Given the description of an element on the screen output the (x, y) to click on. 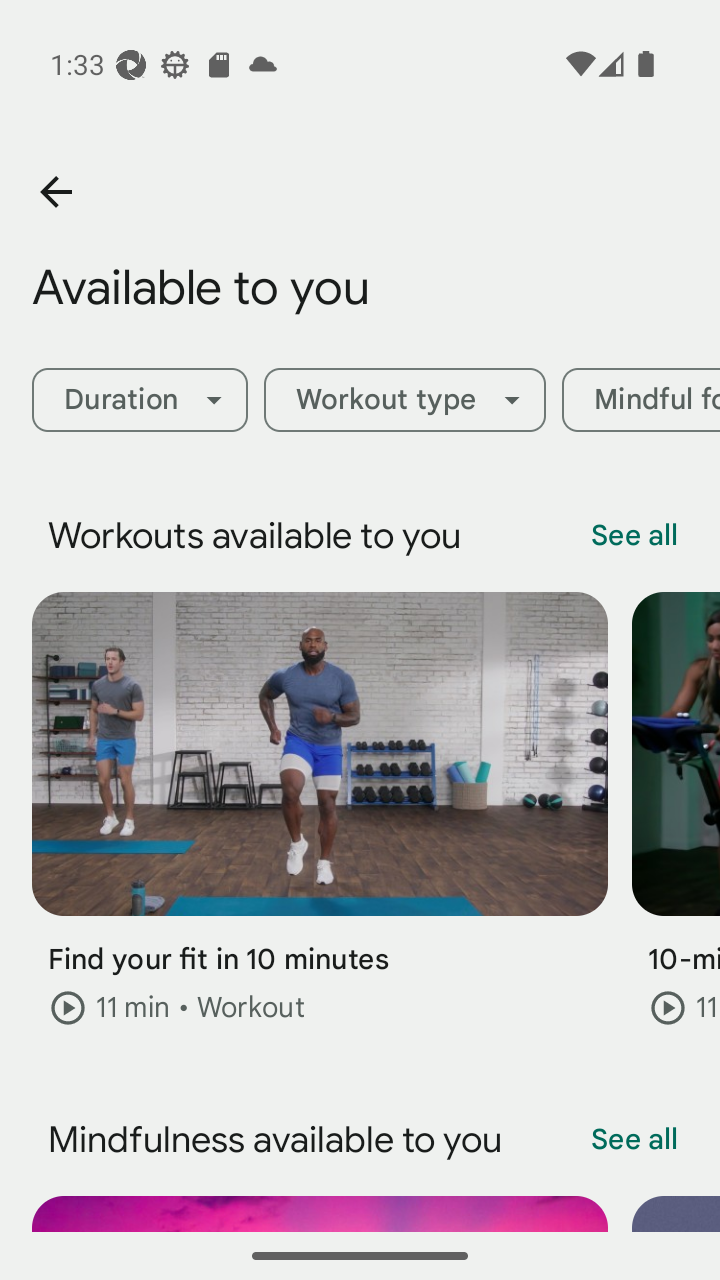
Go back (55, 191)
Duration (139, 400)
Workout type (404, 400)
Mindful focus (641, 400)
Workouts available to you (384, 535)
Mindfulness available to you (384, 1139)
